Given the description of an element on the screen output the (x, y) to click on. 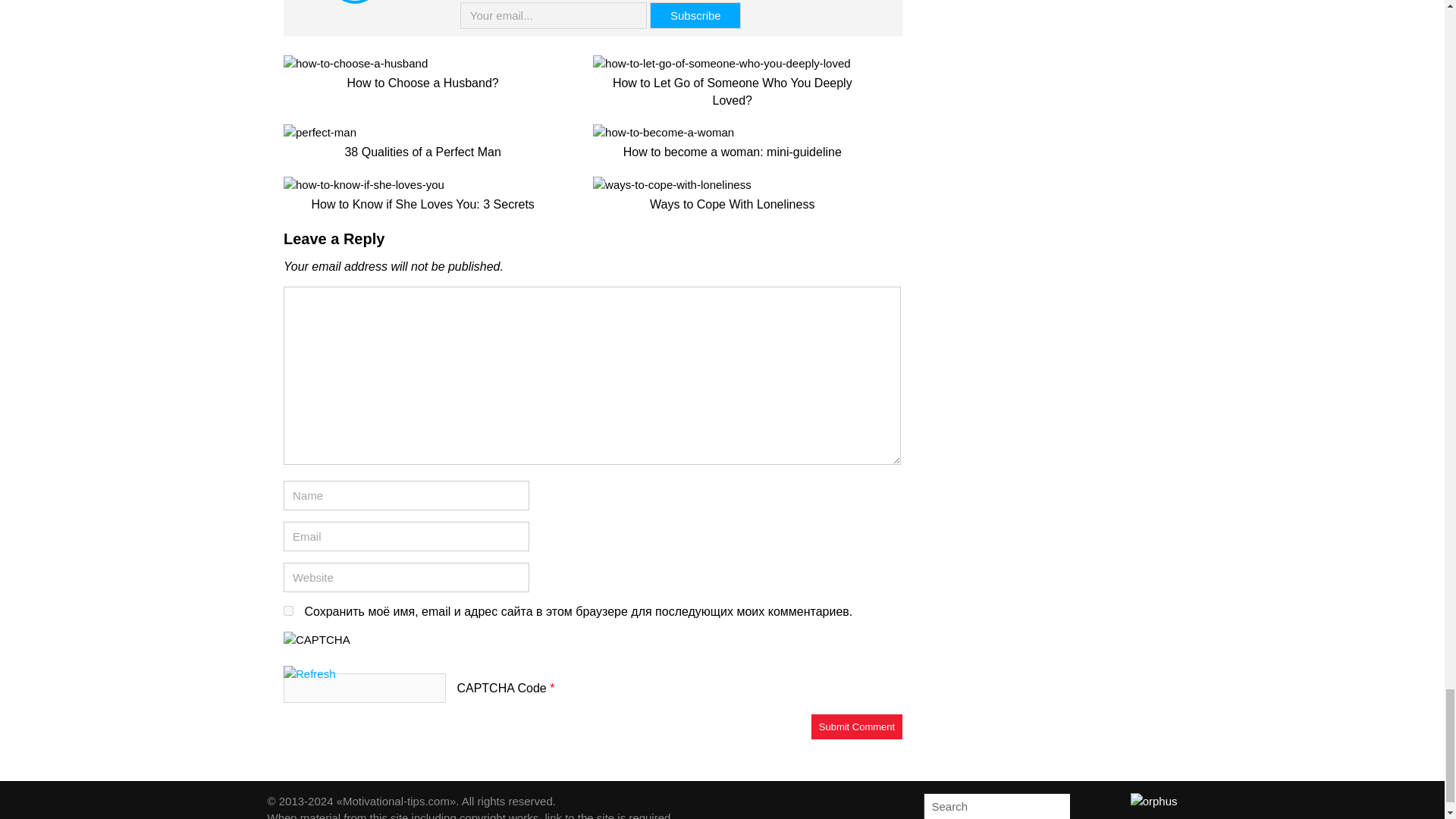
How to become a woman: mini-guideline (731, 140)
Ways to Cope With Loneliness (731, 192)
Search (1055, 806)
Ways to Cope With Loneliness (731, 192)
How to Know if She Loves You: 3 Secrets (422, 192)
Submit Comment (856, 726)
How to Know if She Loves You: 3 Secrets (422, 192)
Subscribe (695, 15)
How to Choose a Husband? (422, 71)
Submit Comment (856, 726)
